Given the description of an element on the screen output the (x, y) to click on. 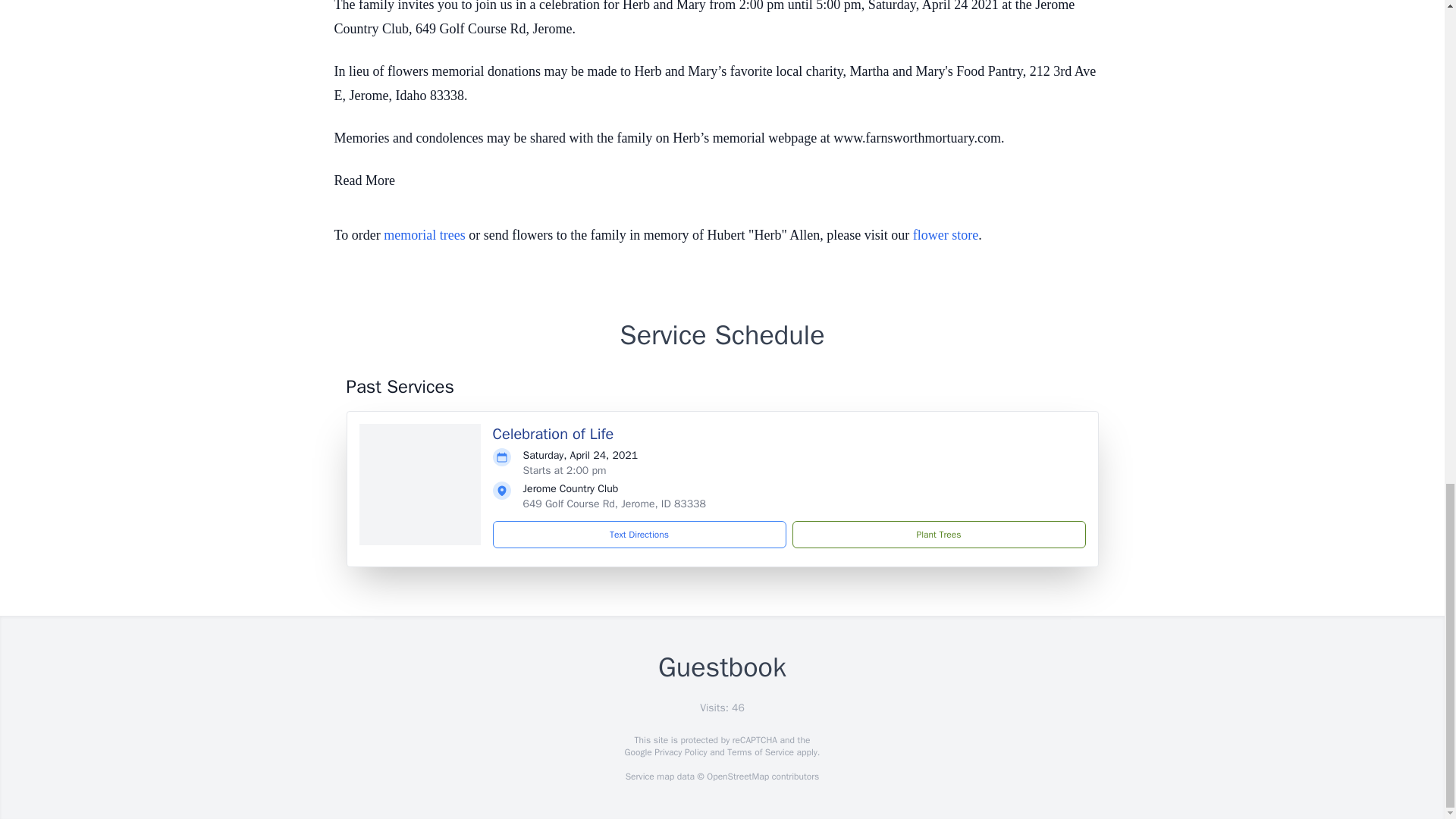
649 Golf Course Rd, Jerome, ID 83338 (614, 503)
memorial trees (424, 234)
Text Directions (639, 533)
flower store (945, 234)
Terms of Service (759, 752)
Read More (363, 180)
Privacy Policy (679, 752)
OpenStreetMap (737, 776)
Plant Trees (938, 533)
